Given the description of an element on the screen output the (x, y) to click on. 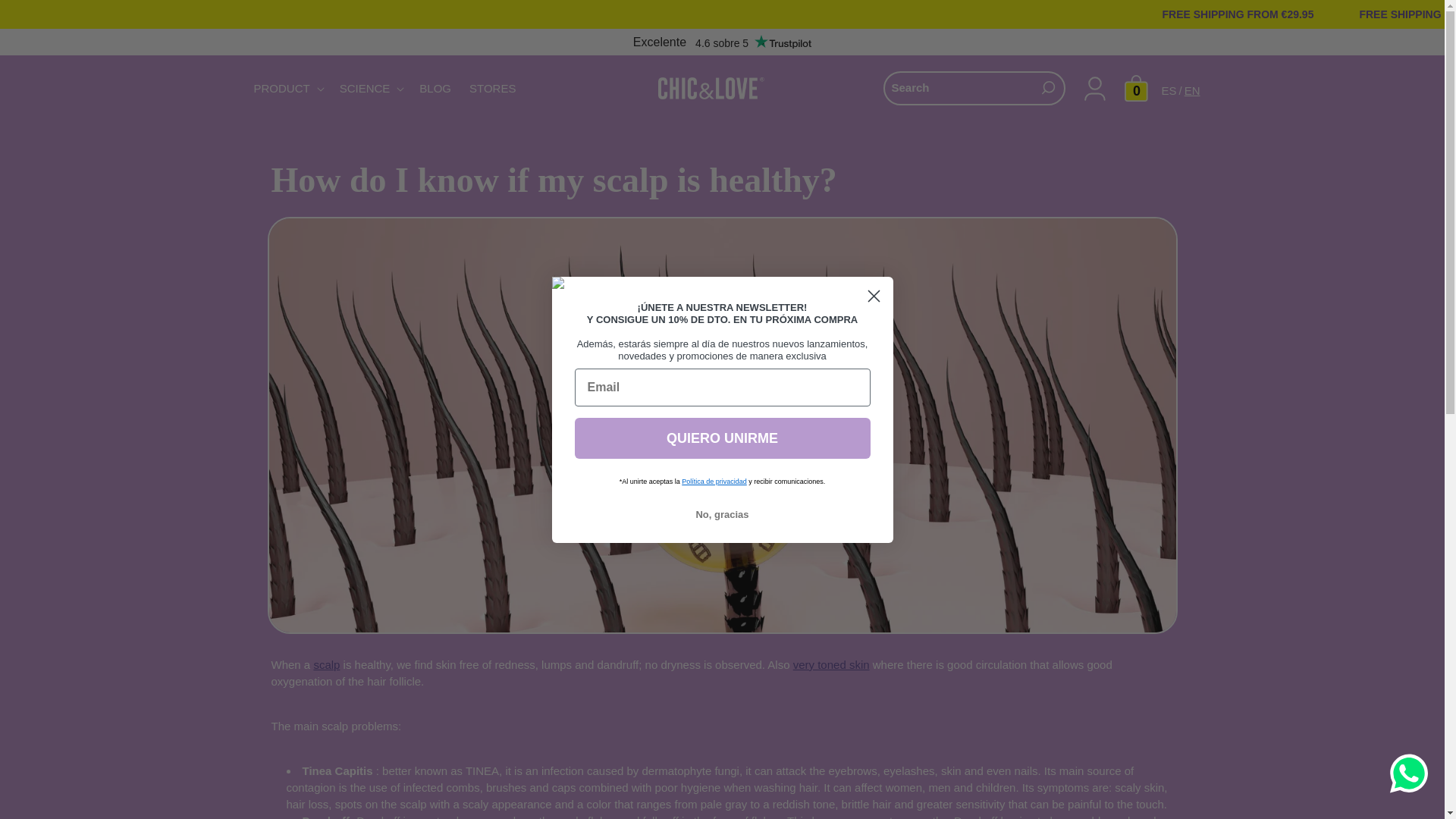
Close dialog 1 (873, 294)
